Given the description of an element on the screen output the (x, y) to click on. 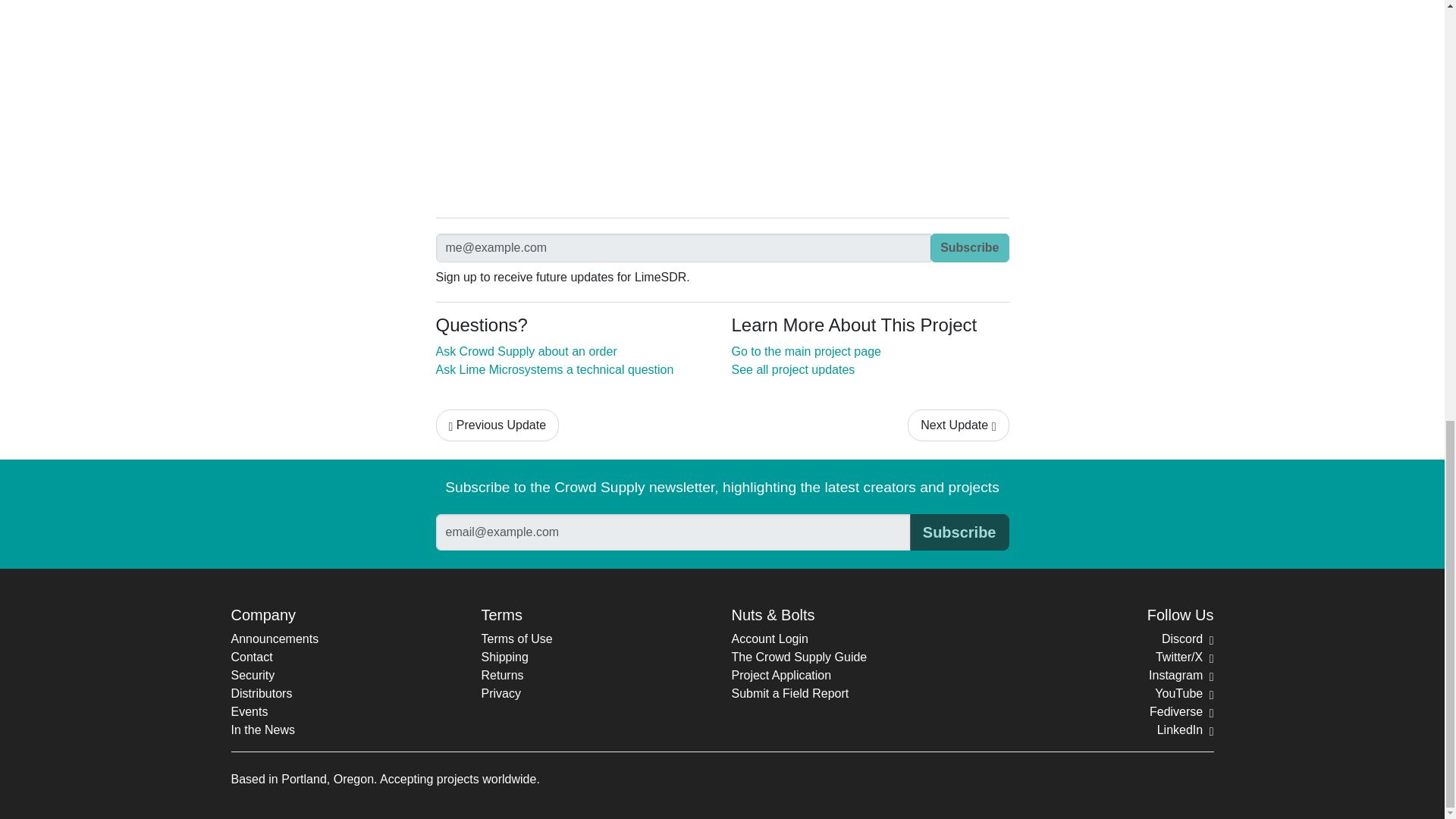
Announcements (274, 638)
The Crowd Supply Guide (798, 656)
Ask Lime Microsystems a technical question (553, 369)
Next Update (958, 425)
Account Login (769, 638)
Distributors (261, 693)
Terms of Use (515, 638)
Submit a Field Report (789, 693)
Ask Crowd Supply about an order (525, 350)
Security (252, 675)
